Given the description of an element on the screen output the (x, y) to click on. 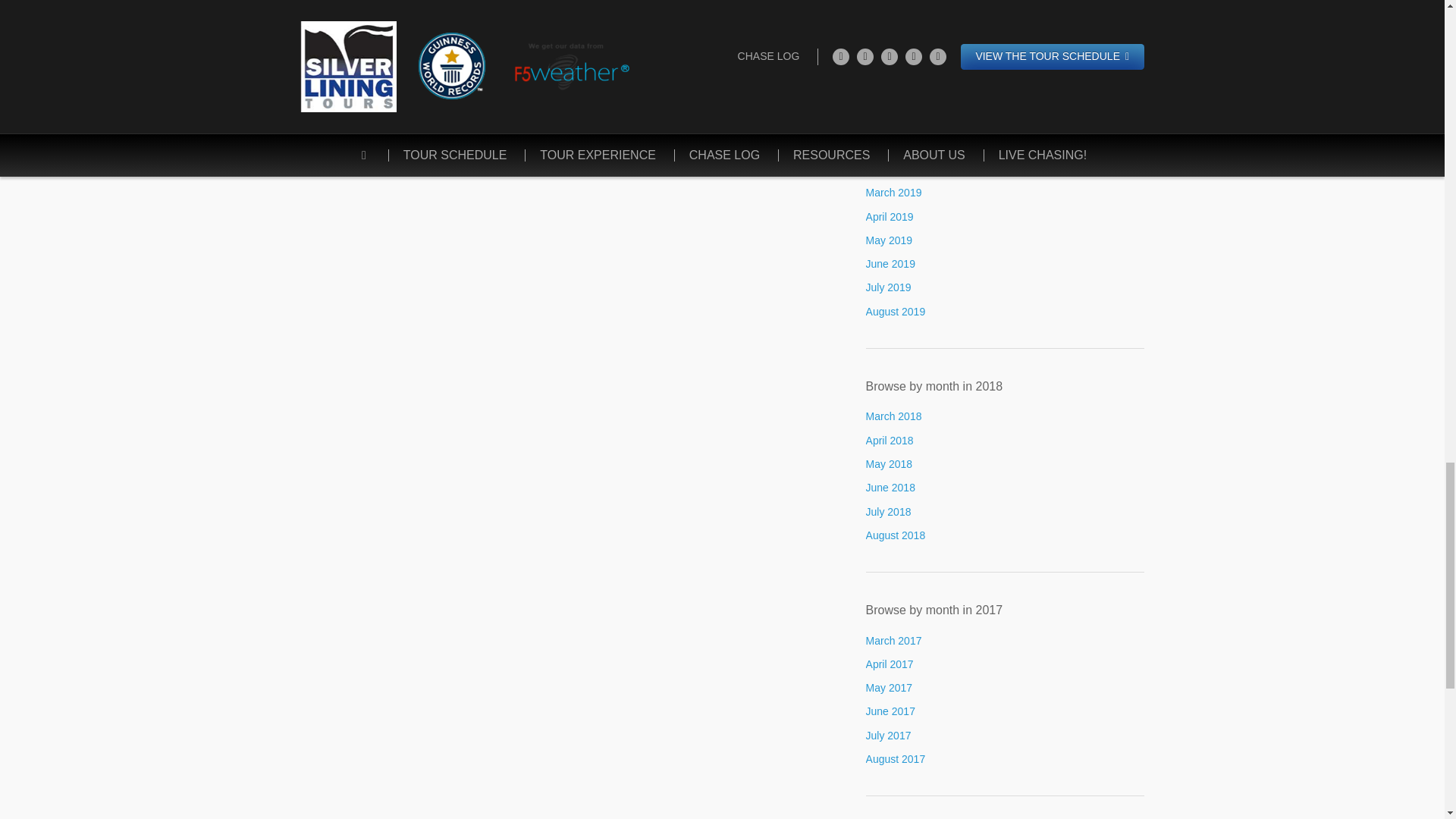
Submit Comment (355, 50)
